Given the description of an element on the screen output the (x, y) to click on. 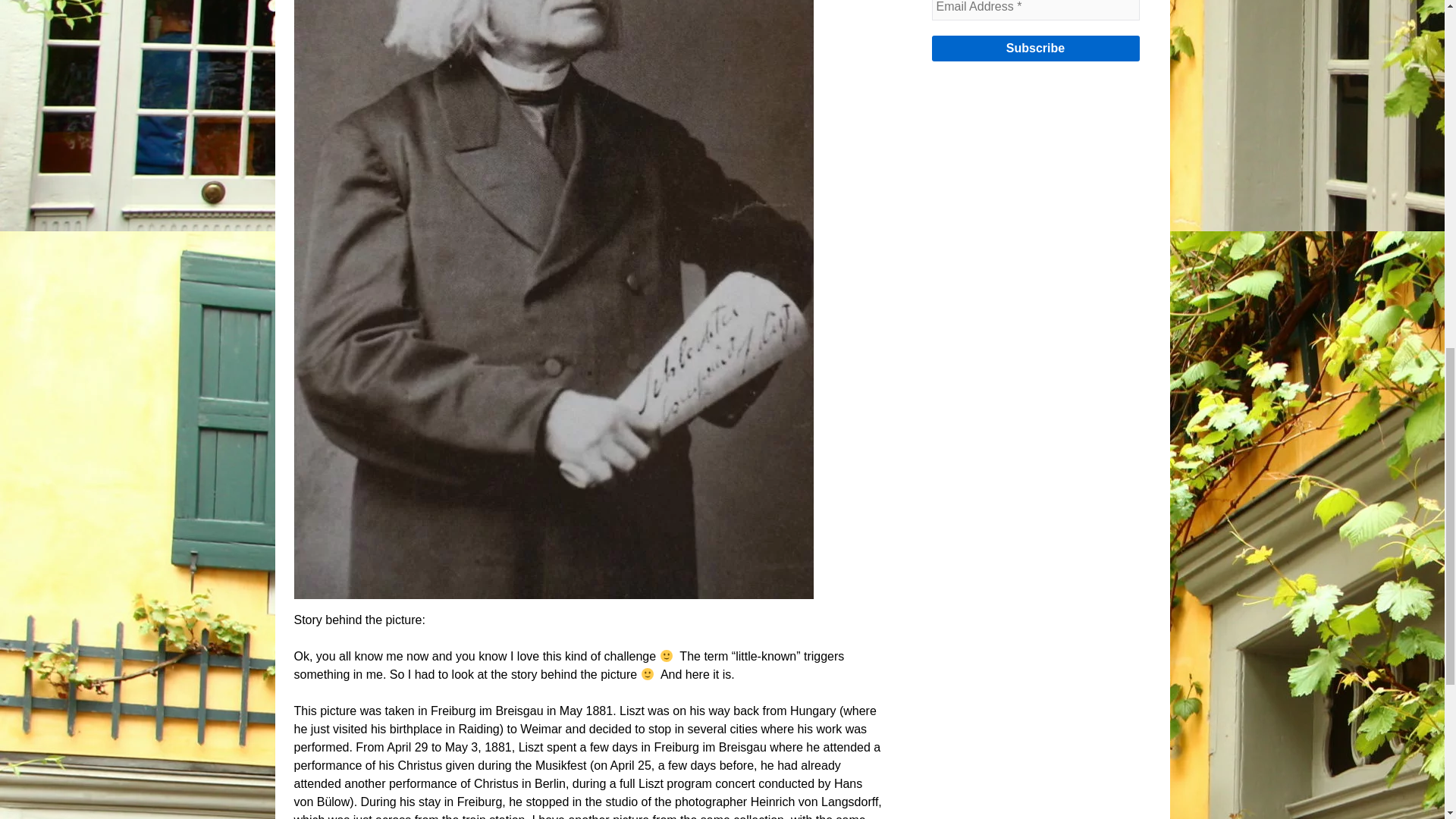
Email Address (1034, 10)
Subscribe (1034, 48)
Subscribe (1034, 48)
